Given the description of an element on the screen output the (x, y) to click on. 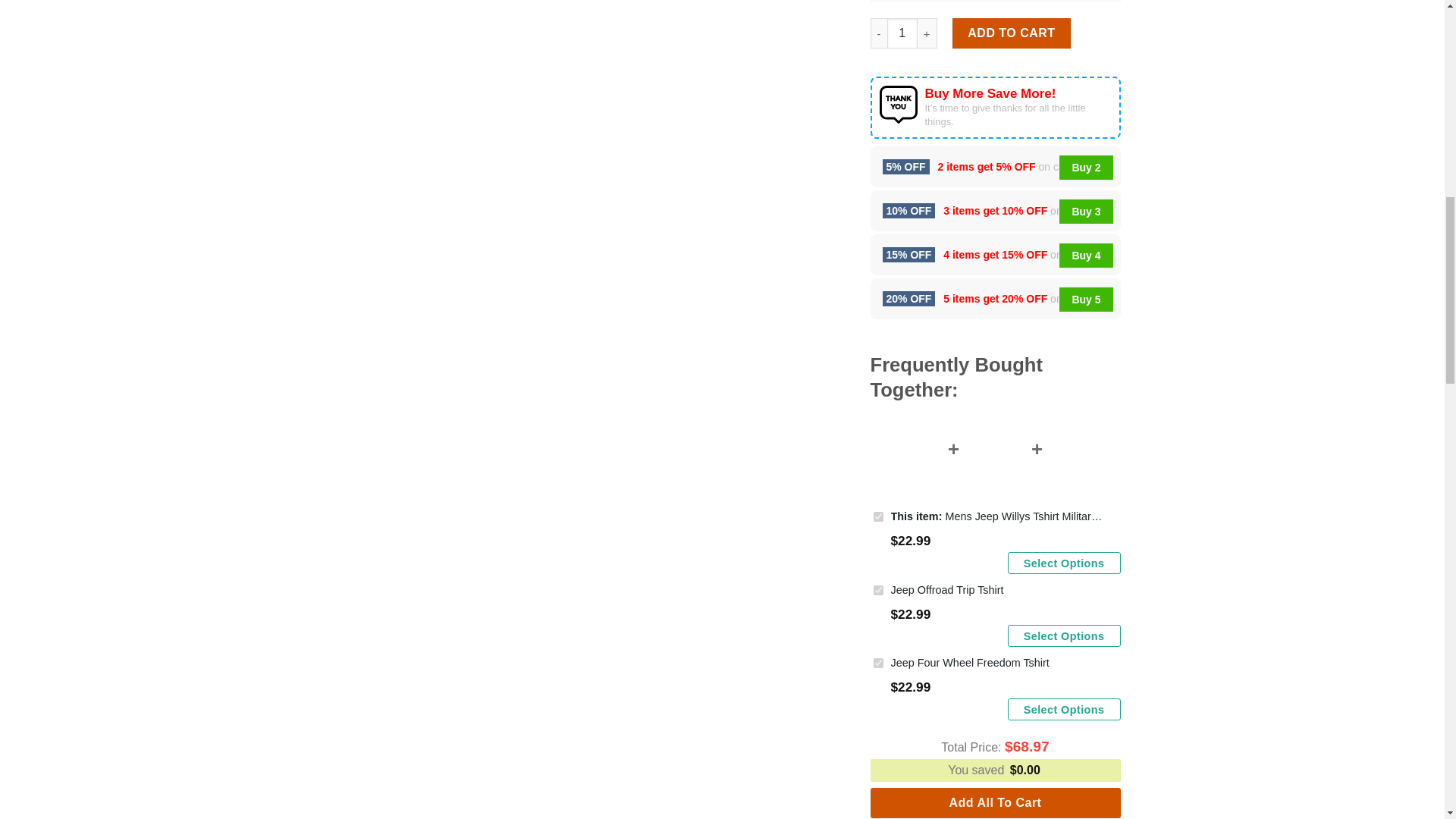
1 (901, 33)
7862 (878, 663)
21026 (878, 516)
7883 (878, 590)
